Given the description of an element on the screen output the (x, y) to click on. 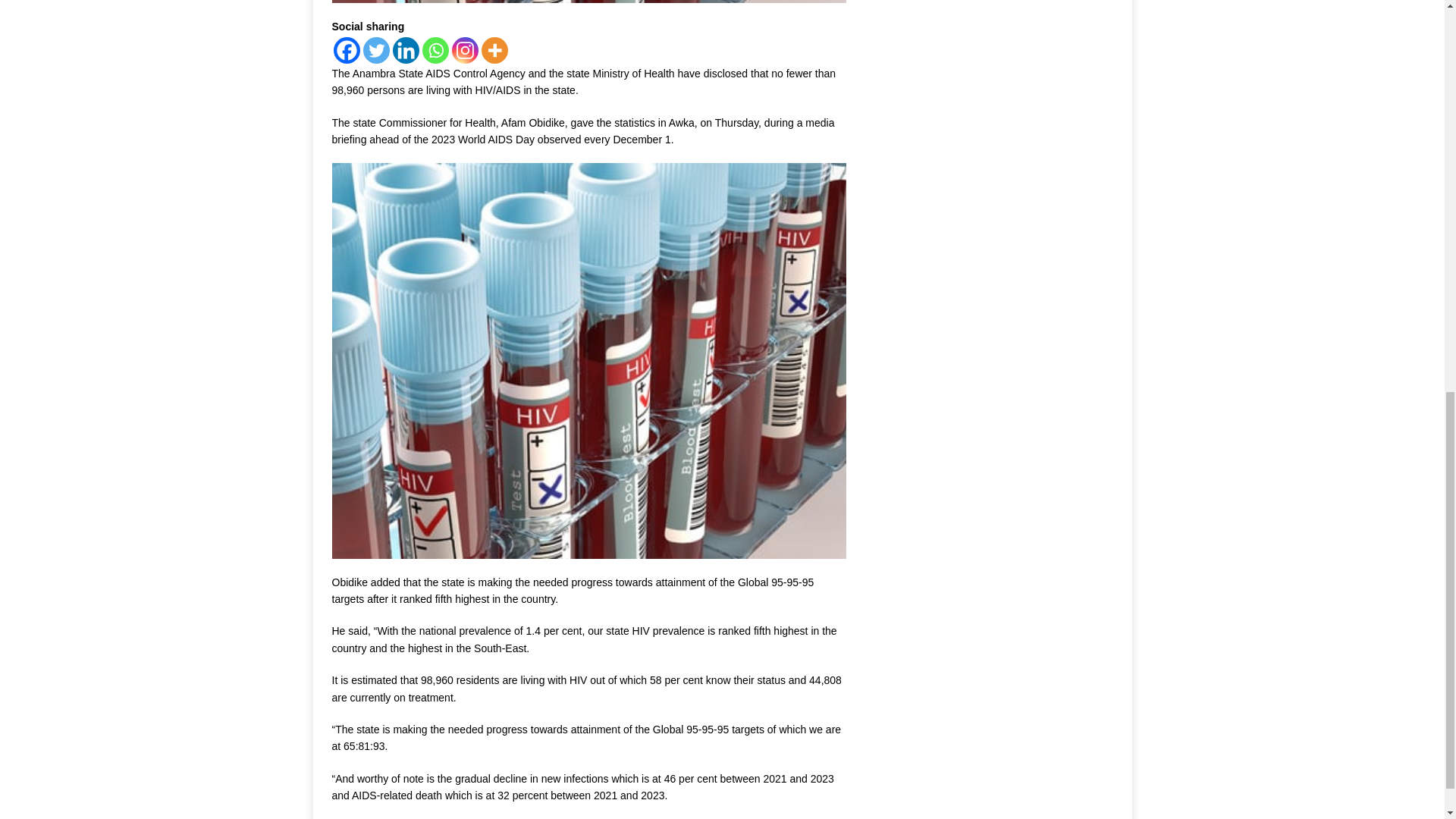
Instagram (465, 49)
Twitter (375, 49)
More (493, 49)
Linkedin (406, 49)
Facebook (346, 49)
Whatsapp (435, 49)
